Given the description of an element on the screen output the (x, y) to click on. 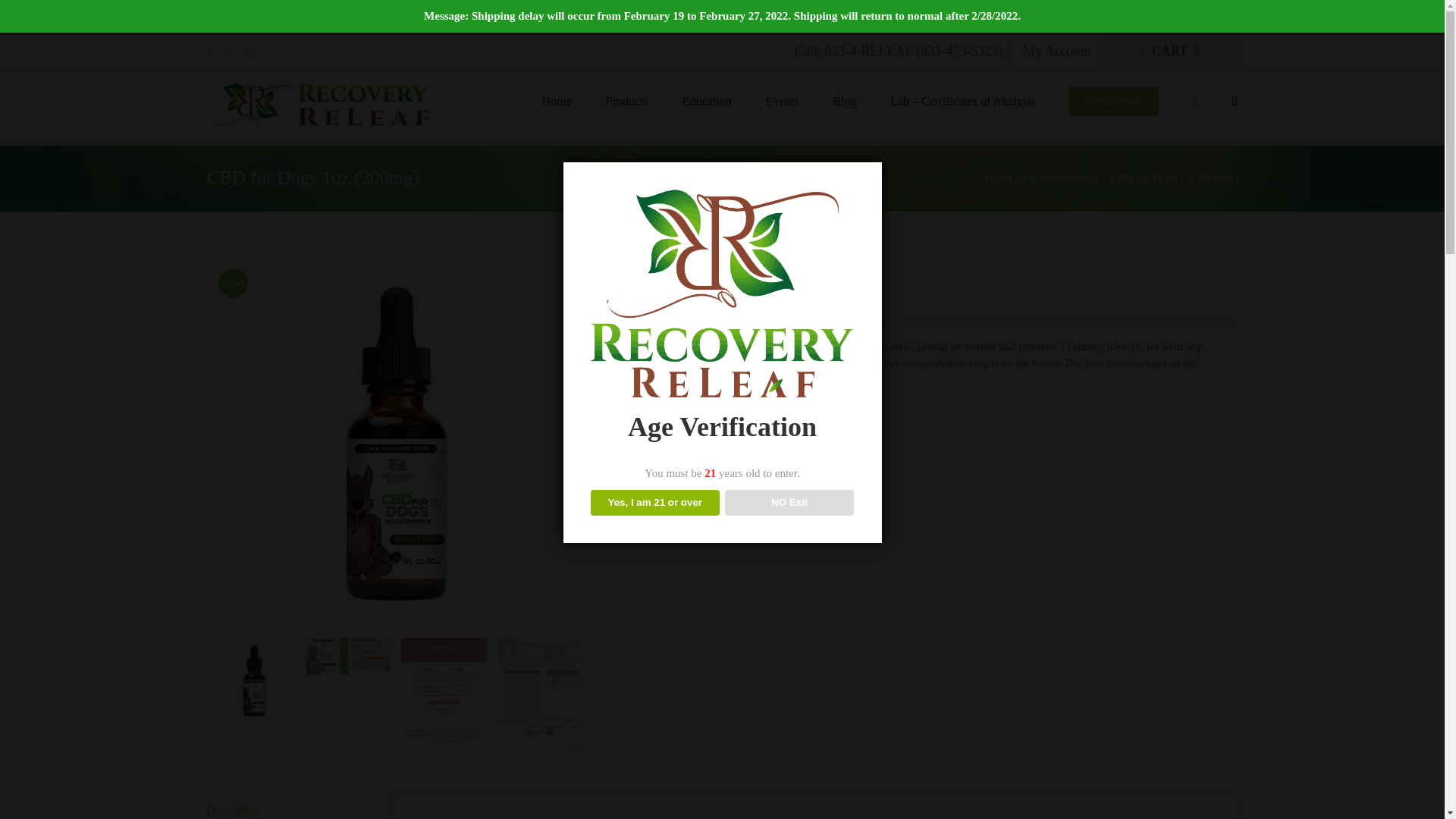
- (625, 421)
SHOP NOW! (1112, 99)
CART (1168, 51)
1 (654, 421)
Log In (1103, 179)
My Account (1056, 51)
